Given the description of an element on the screen output the (x, y) to click on. 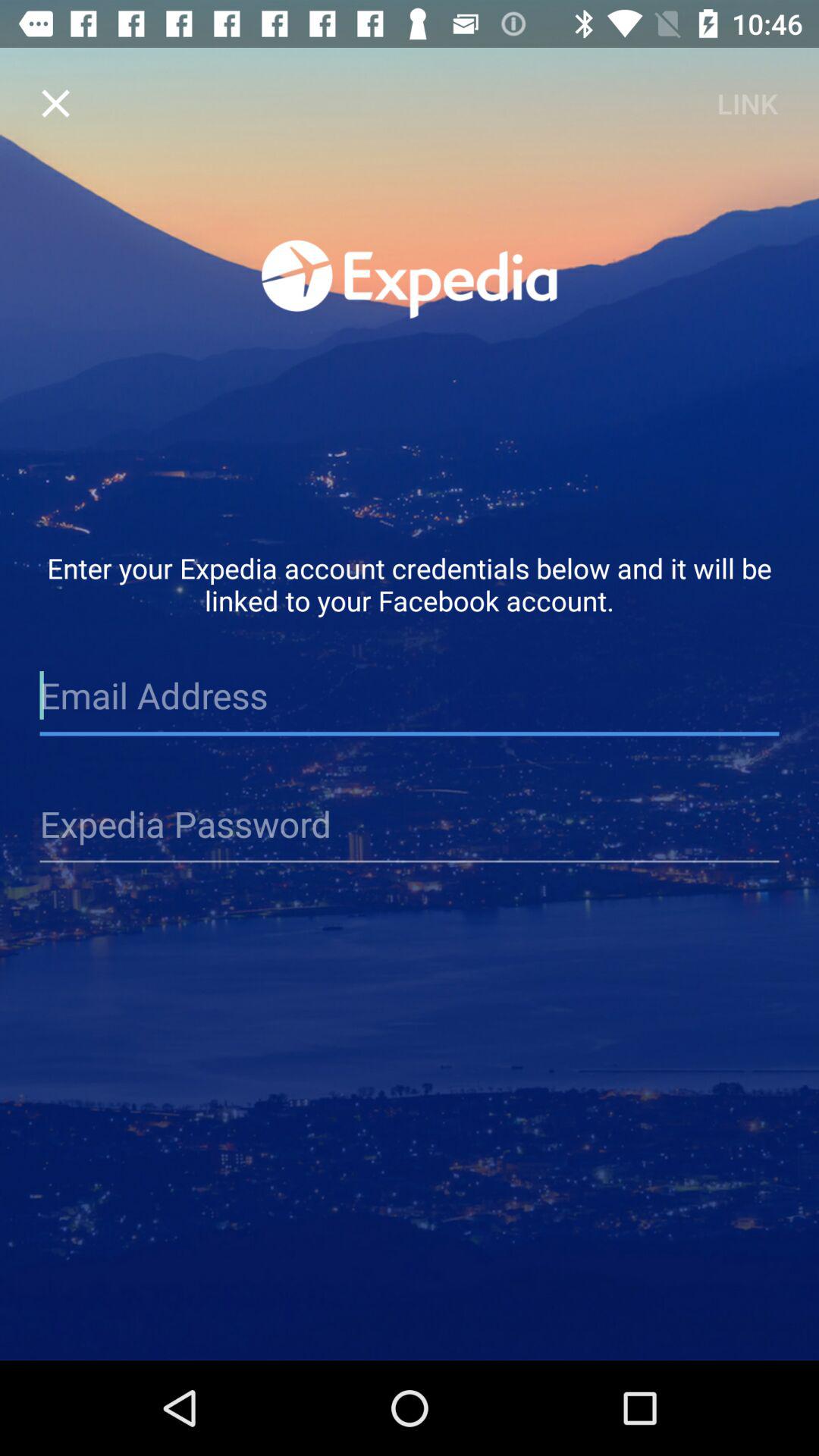
choose link (747, 103)
